Given the description of an element on the screen output the (x, y) to click on. 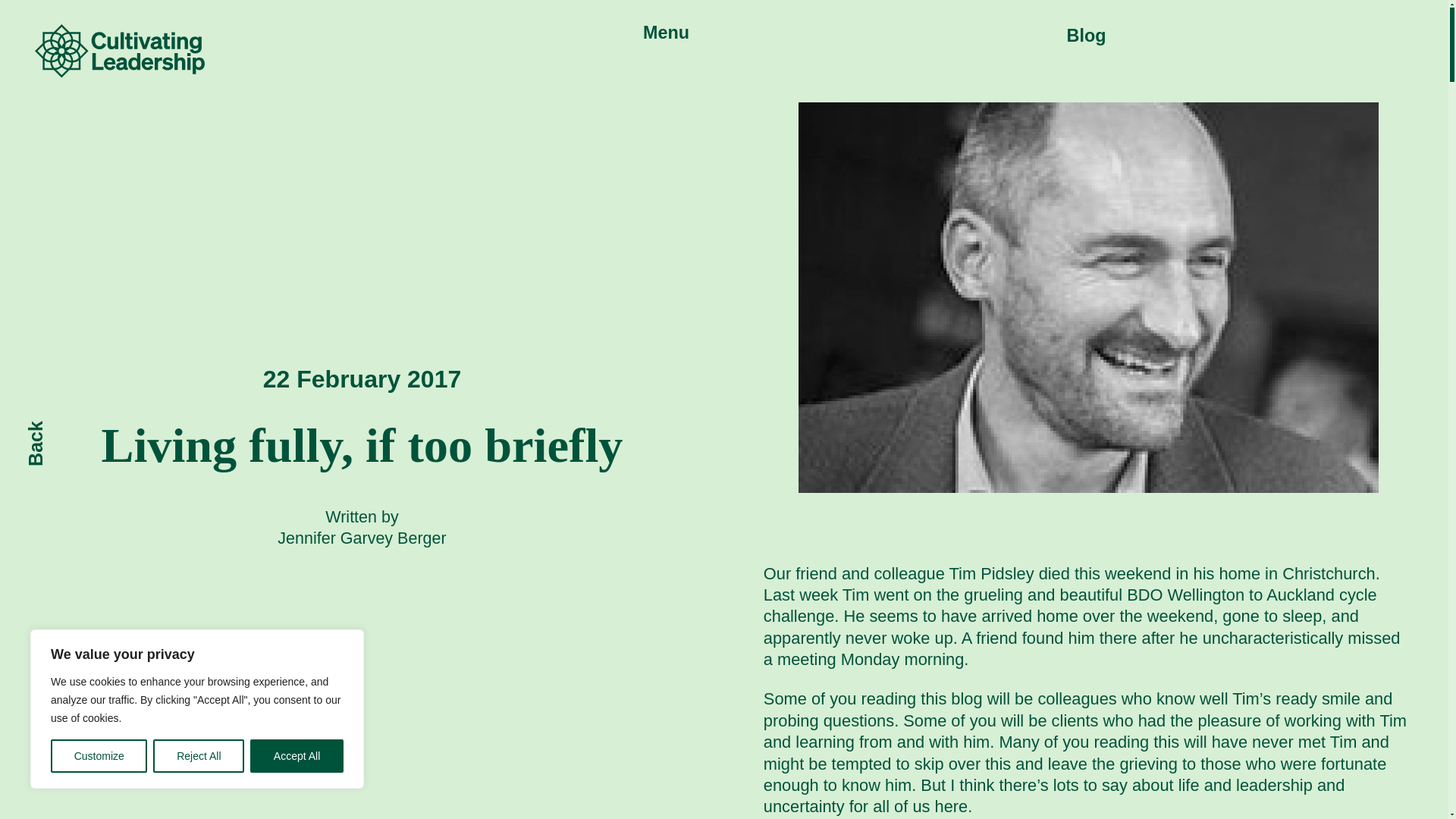
Reject All (198, 756)
Customize (98, 756)
Blog (1086, 35)
Jennifer Garvey Berger (361, 538)
Tim Pidsley (991, 573)
Back (45, 432)
Menu (665, 32)
Accept All (296, 756)
